Given the description of an element on the screen output the (x, y) to click on. 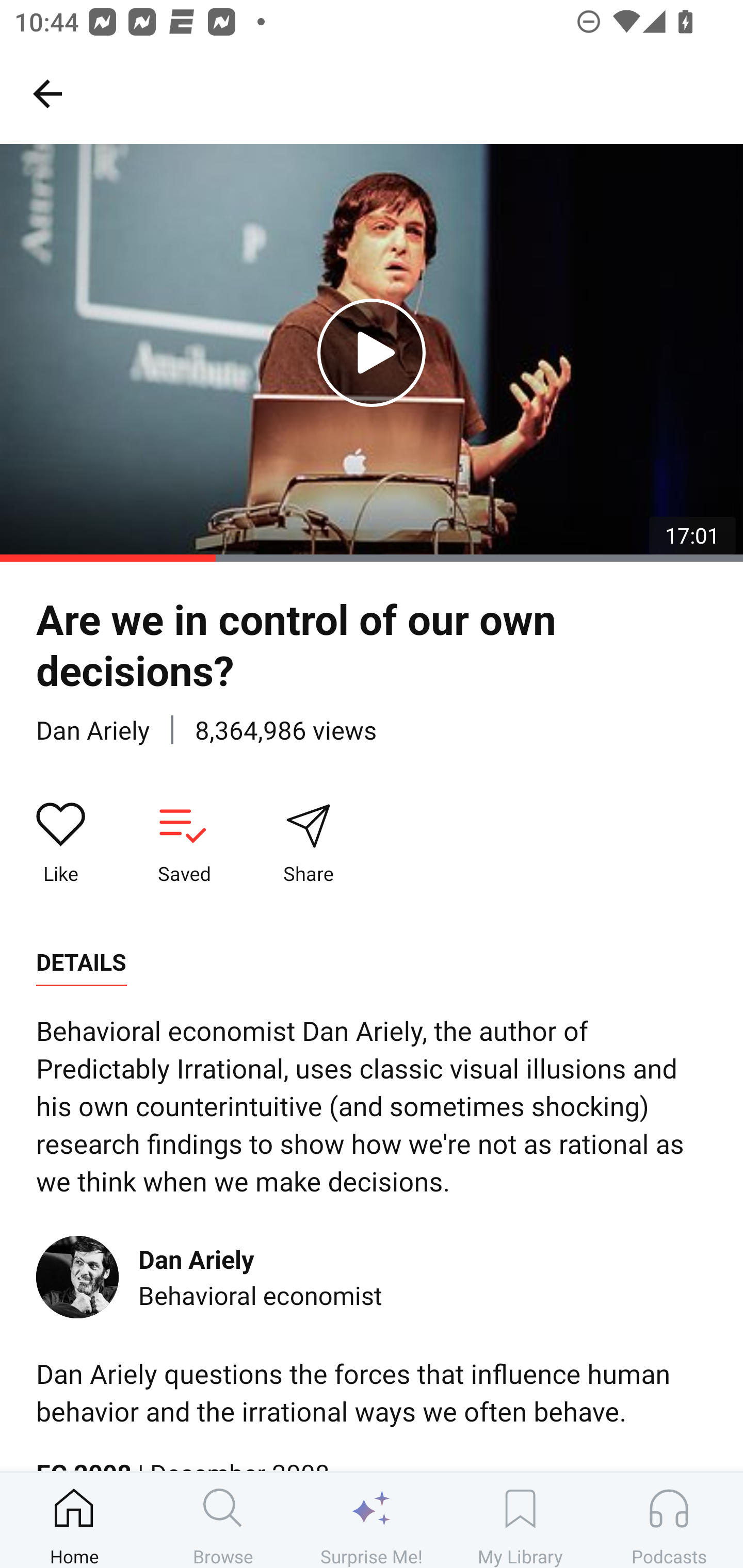
Home, back (47, 92)
Like (60, 843)
Saved (183, 843)
Share (308, 843)
DETAILS (80, 962)
Home (74, 1520)
Browse (222, 1520)
Surprise Me! (371, 1520)
My Library (519, 1520)
Podcasts (668, 1520)
